Given the description of an element on the screen output the (x, y) to click on. 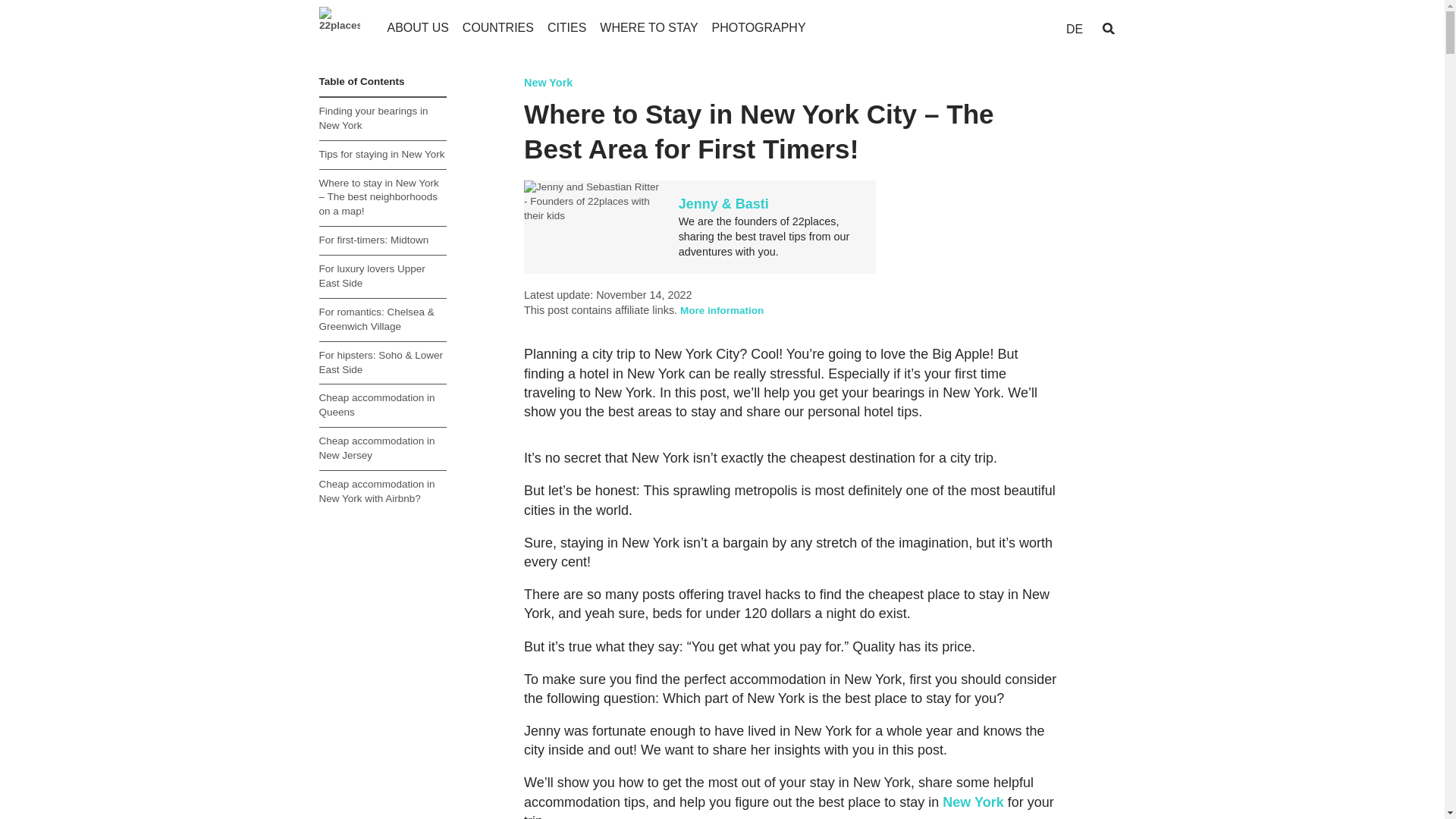
New York Element type: text (548, 82)
Tips for staying in New York Element type: text (381, 154)
Cheap accommodation in New Jersey Element type: text (381, 448)
New York Element type: text (972, 801)
Jenny & Basti Element type: text (723, 203)
For first-timers: Midtown Element type: text (381, 240)
For romantics: Chelsea & Greenwich Village Element type: text (381, 319)
COUNTRIES Element type: text (497, 27)
Cheap accommodation in New York with Airbnb? Element type: text (381, 491)
WHERE TO STAY Element type: text (648, 27)
For hipsters: Soho & Lower East Side Element type: text (381, 362)
Cheap accommodation in Queens Element type: text (381, 405)
More information Element type: text (721, 310)
CITIES Element type: text (566, 27)
For luxury lovers Upper East Side Element type: text (381, 276)
ABOUT US Element type: text (417, 27)
Finding your bearings in New York Element type: text (381, 118)
PHOTOGRAPHY Element type: text (759, 27)
DE Element type: text (1074, 28)
